Given the description of an element on the screen output the (x, y) to click on. 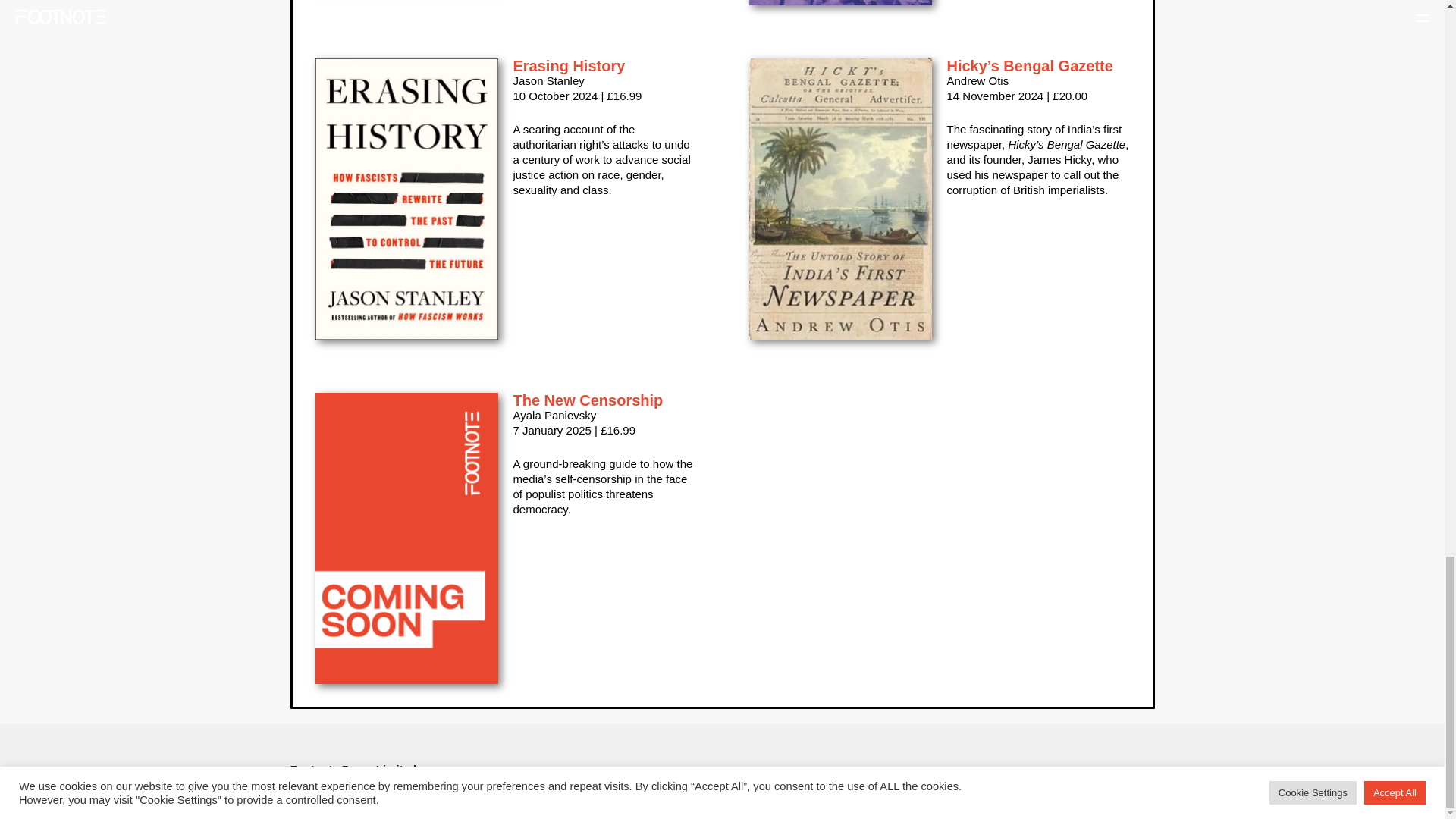
Twitter (580, 784)
Privacy Policy (1004, 784)
The New Censorship (587, 400)
Digital Catalogue (927, 784)
Facebook (673, 784)
Instagram (758, 784)
Writing Prize (849, 784)
Erasing History (568, 65)
